Given the description of an element on the screen output the (x, y) to click on. 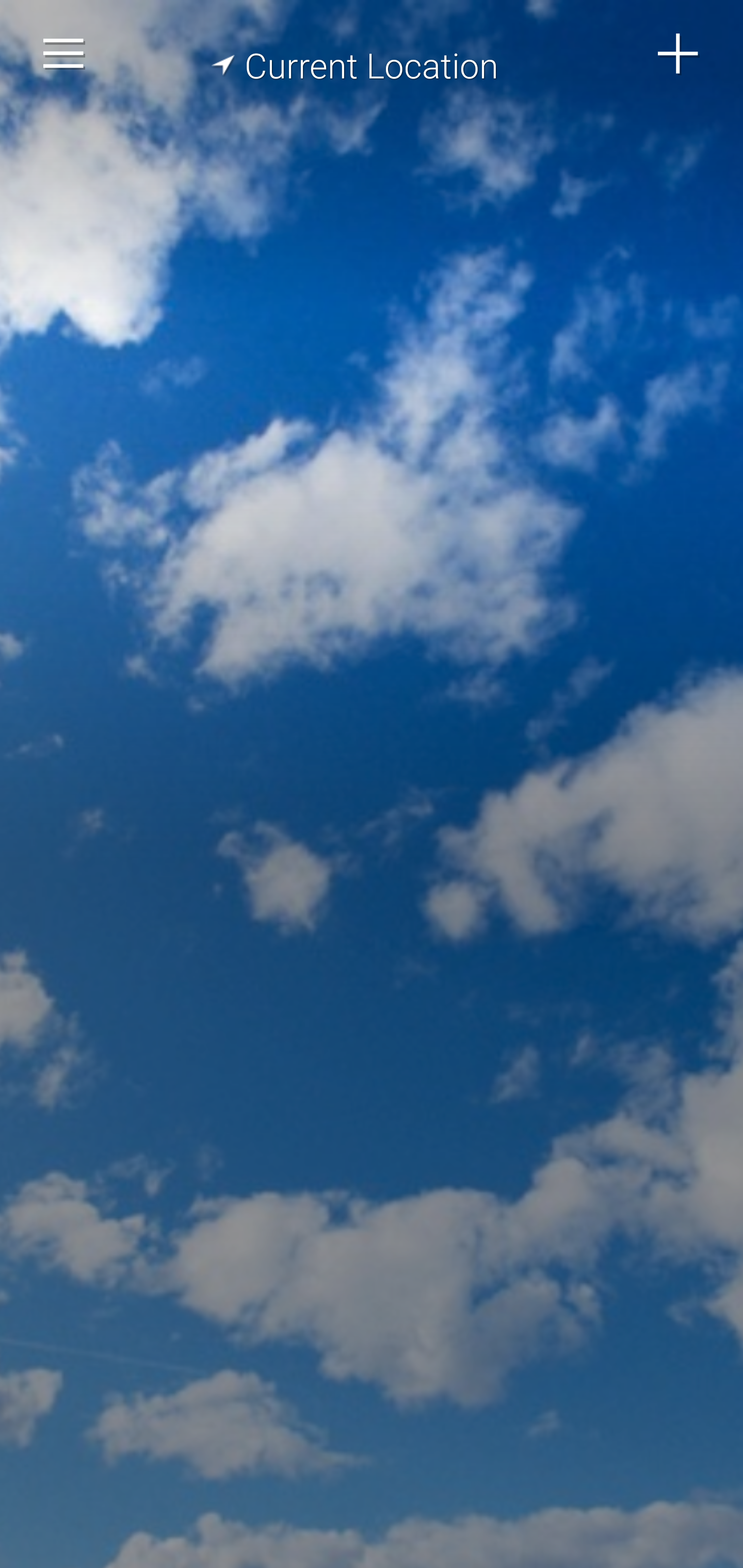
Sidebar (64, 54)
Add City (678, 53)
